Given the description of an element on the screen output the (x, y) to click on. 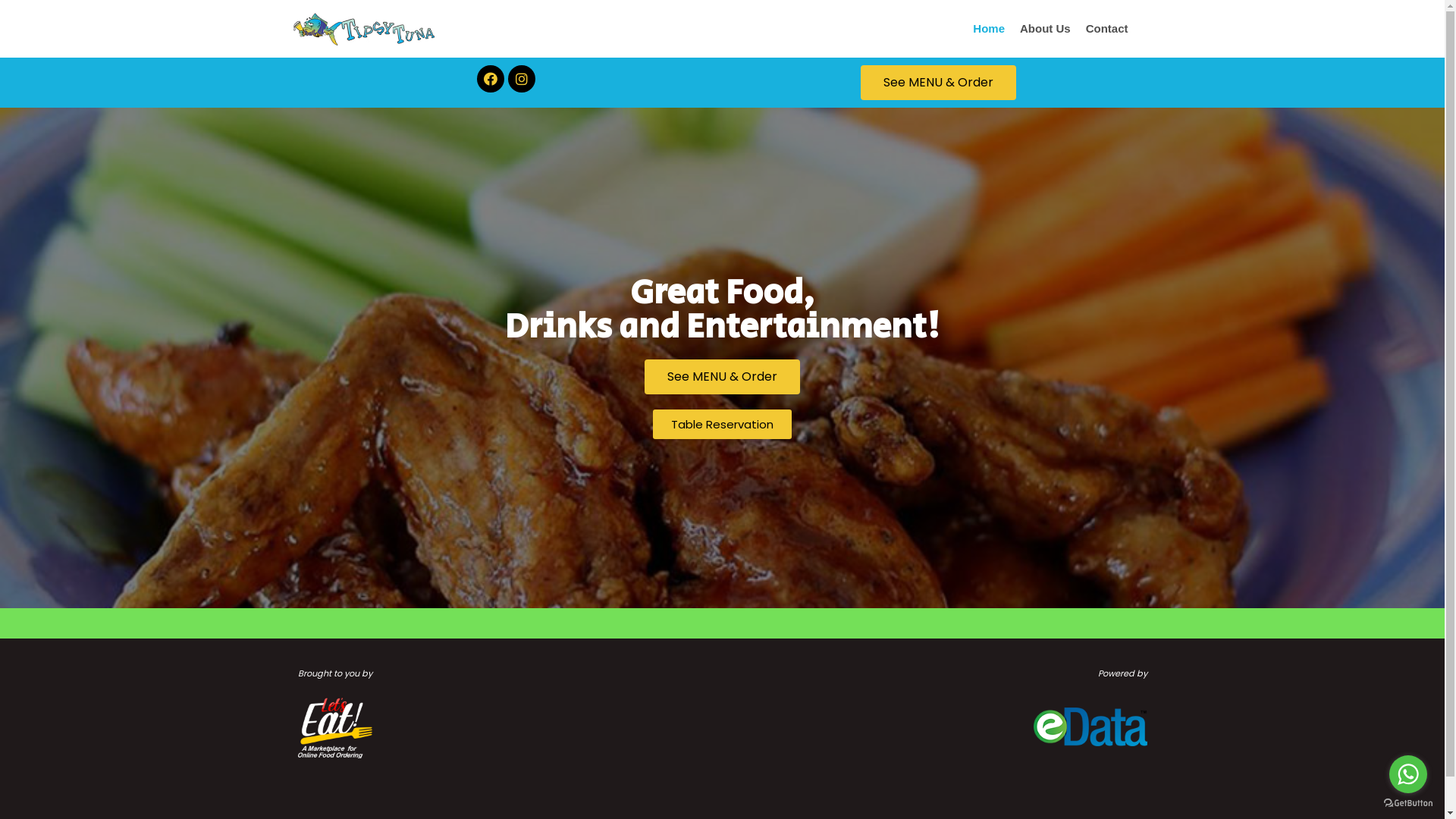
Contact Element type: text (1106, 28)
Home Element type: text (988, 28)
Search Element type: text (1137, 409)
Skip to content Element type: text (15, 31)
Tipsy Tuna Element type: hover (365, 29)
About Us Element type: text (1044, 28)
